Given the description of an element on the screen output the (x, y) to click on. 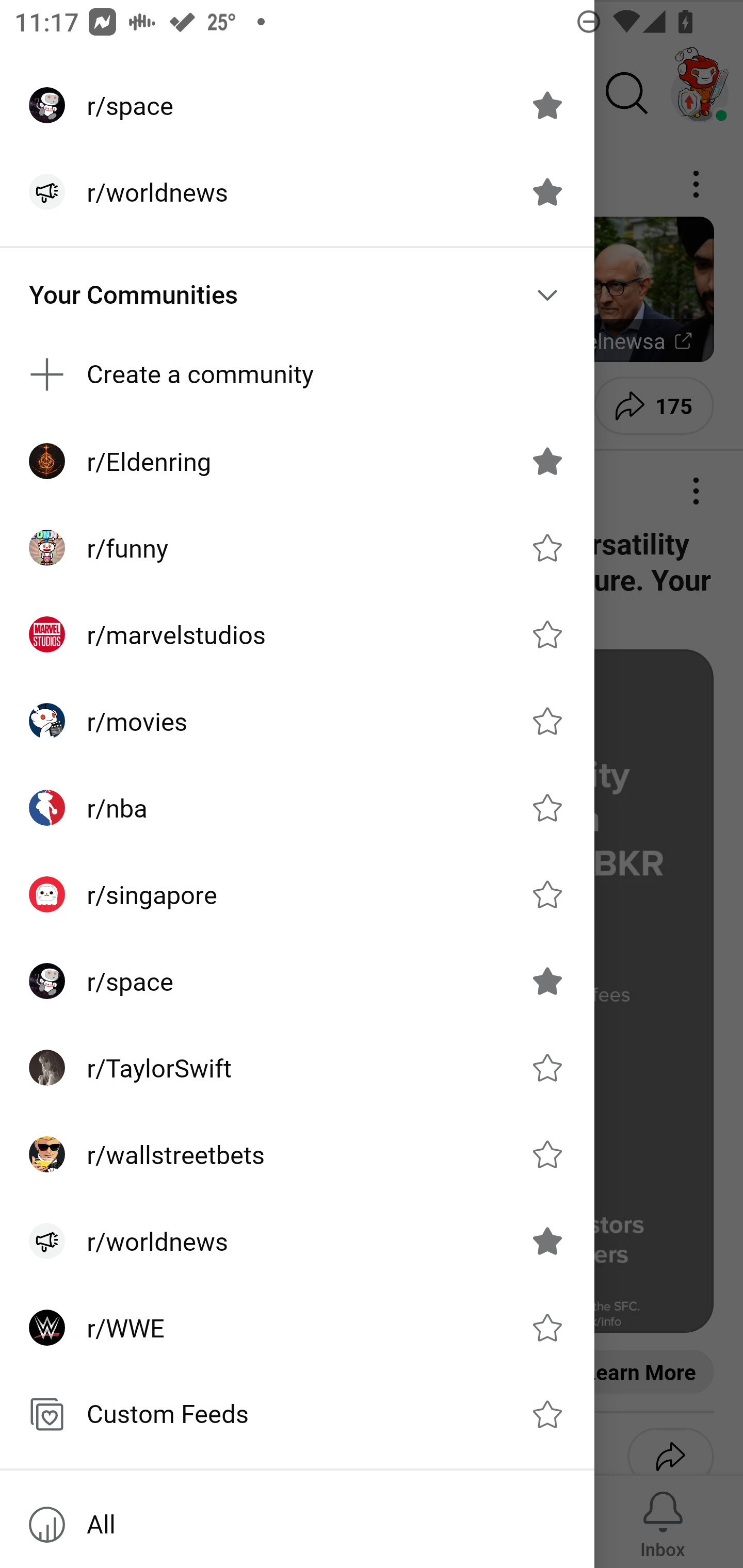
r/space Unfavorite r/space (297, 104)
Unfavorite r/space (546, 104)
r/worldnews Unfavorite r/worldnews (297, 191)
Unfavorite r/worldnews (546, 192)
Your Communities (297, 294)
Create a community (297, 373)
r/Eldenring Unfavorite r/Eldenring (297, 460)
Unfavorite r/Eldenring (546, 460)
r/funny Favorite r/funny (297, 547)
Favorite r/funny (546, 548)
r/marvelstudios Favorite r/marvelstudios (297, 634)
Favorite r/marvelstudios (546, 634)
r/movies Favorite r/movies (297, 721)
Favorite r/movies (546, 721)
r/nba Favorite r/nba (297, 808)
Favorite r/nba (546, 807)
r/singapore Favorite r/singapore (297, 894)
Favorite r/singapore (546, 894)
r/space Unfavorite r/space (297, 980)
Unfavorite r/space (546, 980)
r/TaylorSwift Favorite r/TaylorSwift (297, 1067)
Favorite r/TaylorSwift (546, 1067)
r/wallstreetbets Favorite r/wallstreetbets (297, 1154)
Favorite r/wallstreetbets (546, 1154)
r/worldnews Unfavorite r/worldnews (297, 1240)
Unfavorite r/worldnews (546, 1241)
r/WWE Favorite r/WWE (297, 1327)
Favorite r/WWE (546, 1327)
Custom Feeds (297, 1414)
All (297, 1524)
